Given the description of an element on the screen output the (x, y) to click on. 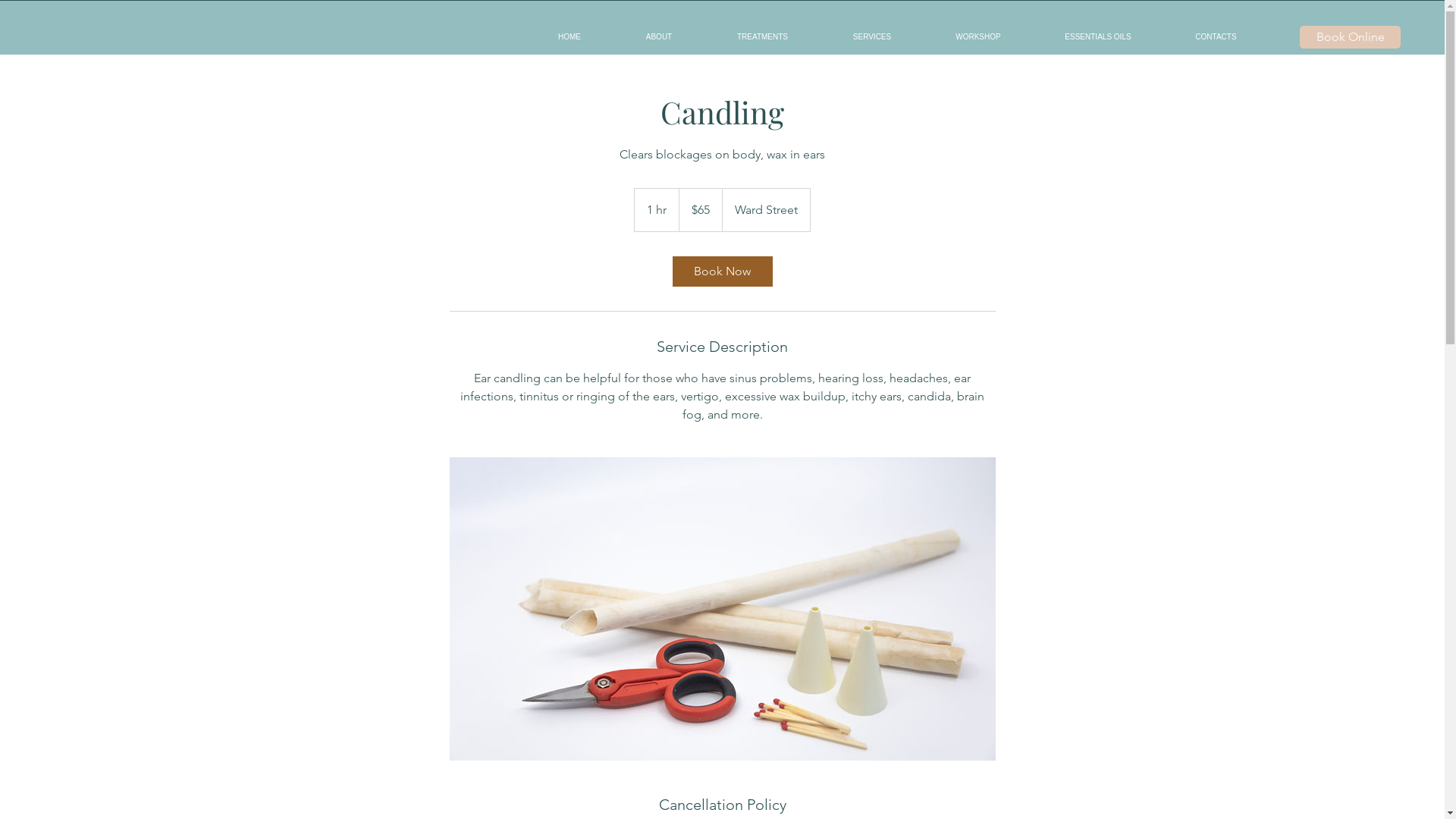
HOME Element type: text (569, 36)
CONTACTS Element type: text (1215, 36)
Book Online Element type: text (1349, 36)
ESSENTIALS OILS Element type: text (1097, 36)
SERVICES Element type: text (871, 36)
ABOUT Element type: text (658, 36)
TREATMENTS Element type: text (762, 36)
WORKSHOP Element type: text (977, 36)
Book Now Element type: text (721, 271)
